Given the description of an element on the screen output the (x, y) to click on. 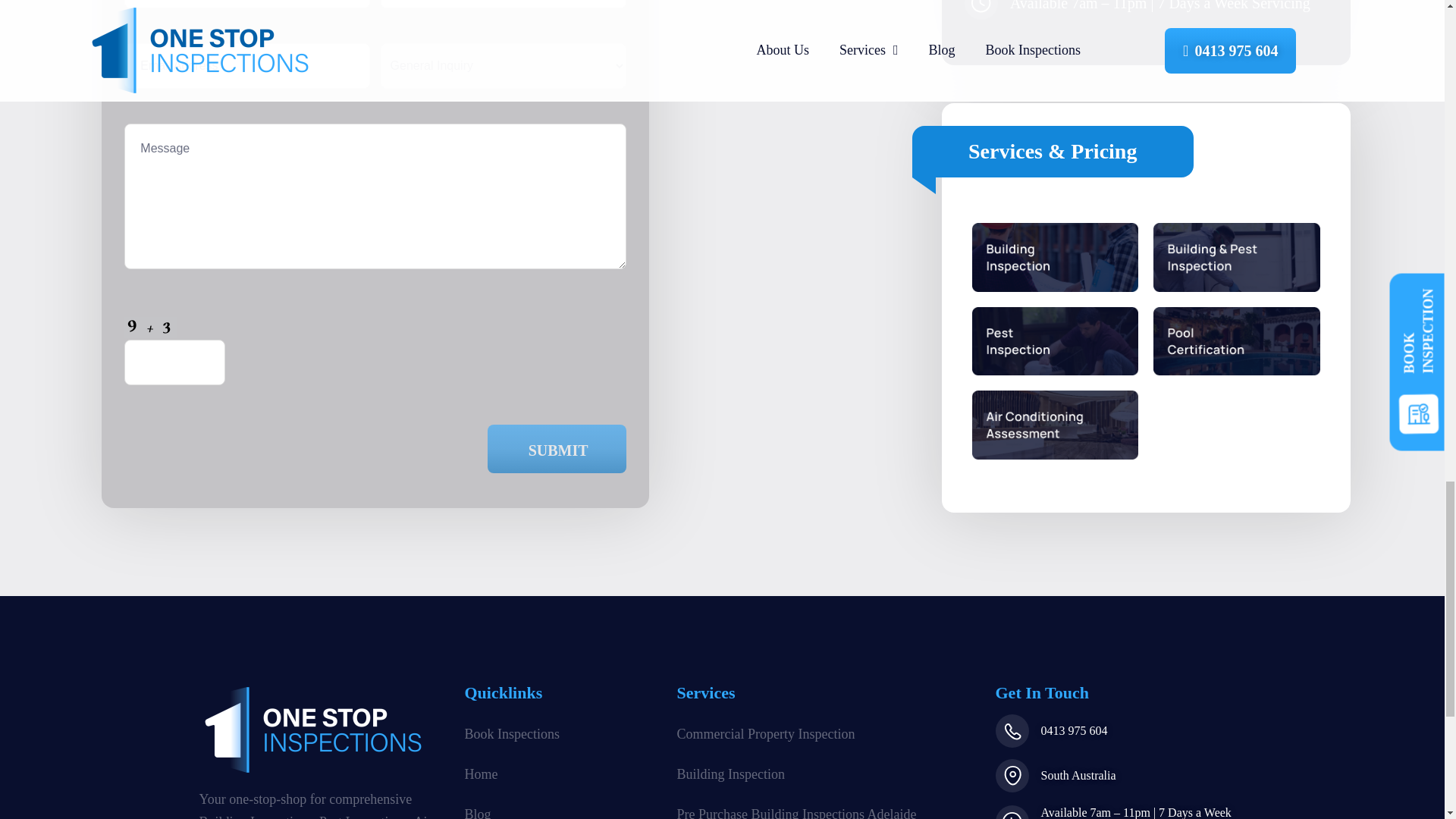
Submit (556, 449)
